Given the description of an element on the screen output the (x, y) to click on. 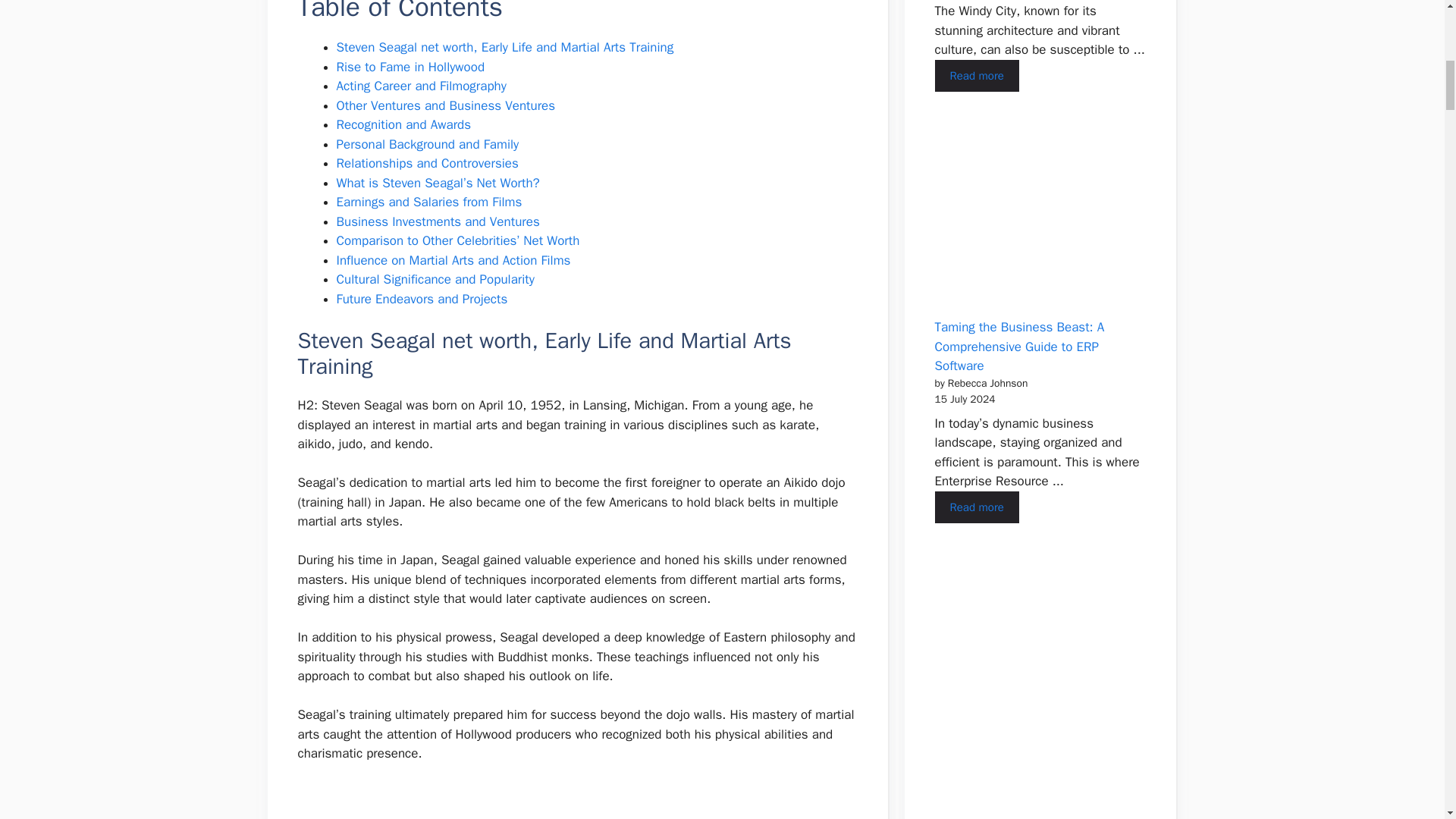
Relationships and Controversies (427, 163)
Earnings and Salaries from Films (429, 201)
Recognition and Awards (403, 124)
Influence on Martial Arts and Action Films (453, 260)
Cultural Significance and Popularity (435, 279)
Personal Background and Family (427, 144)
Other Ventures and Business Ventures (446, 105)
When Disaster Strikes: A Guide to Flood Restoration Chicago (975, 75)
